Given the description of an element on the screen output the (x, y) to click on. 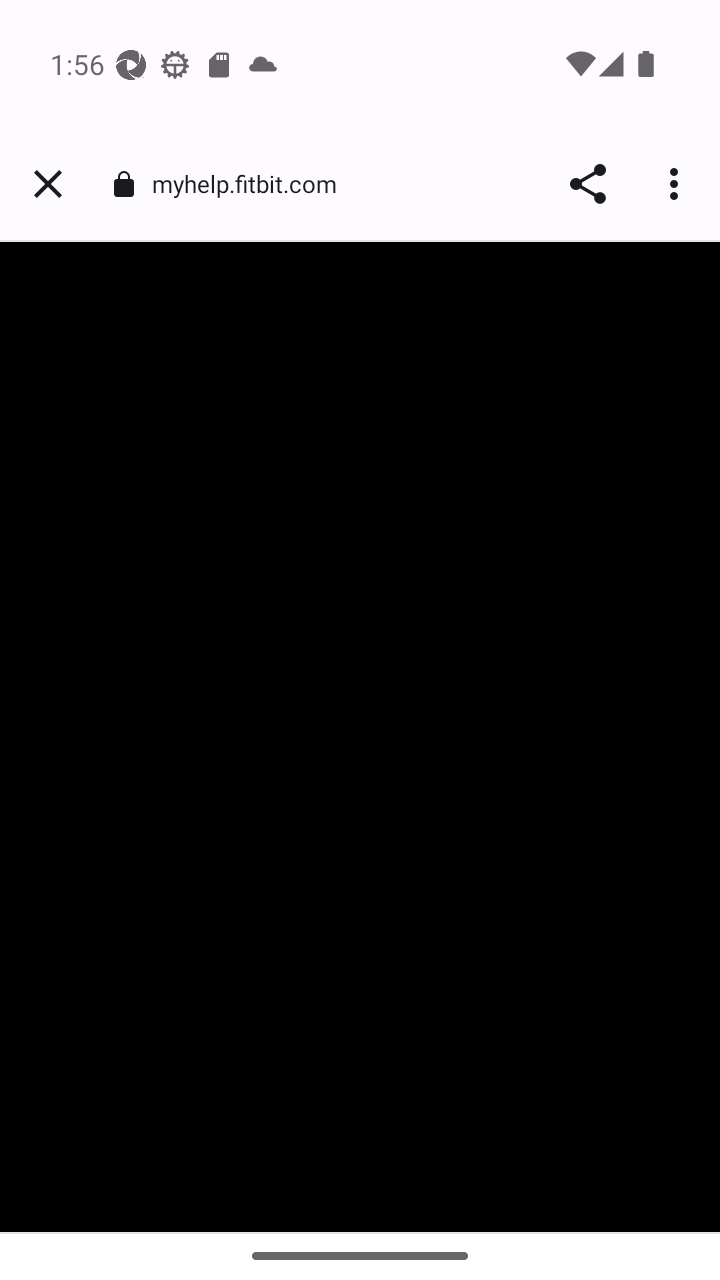
Close tab (47, 184)
Share (587, 184)
More options (677, 184)
Connection is secure (123, 183)
myhelp.fitbit.com (251, 182)
